Given the description of an element on the screen output the (x, y) to click on. 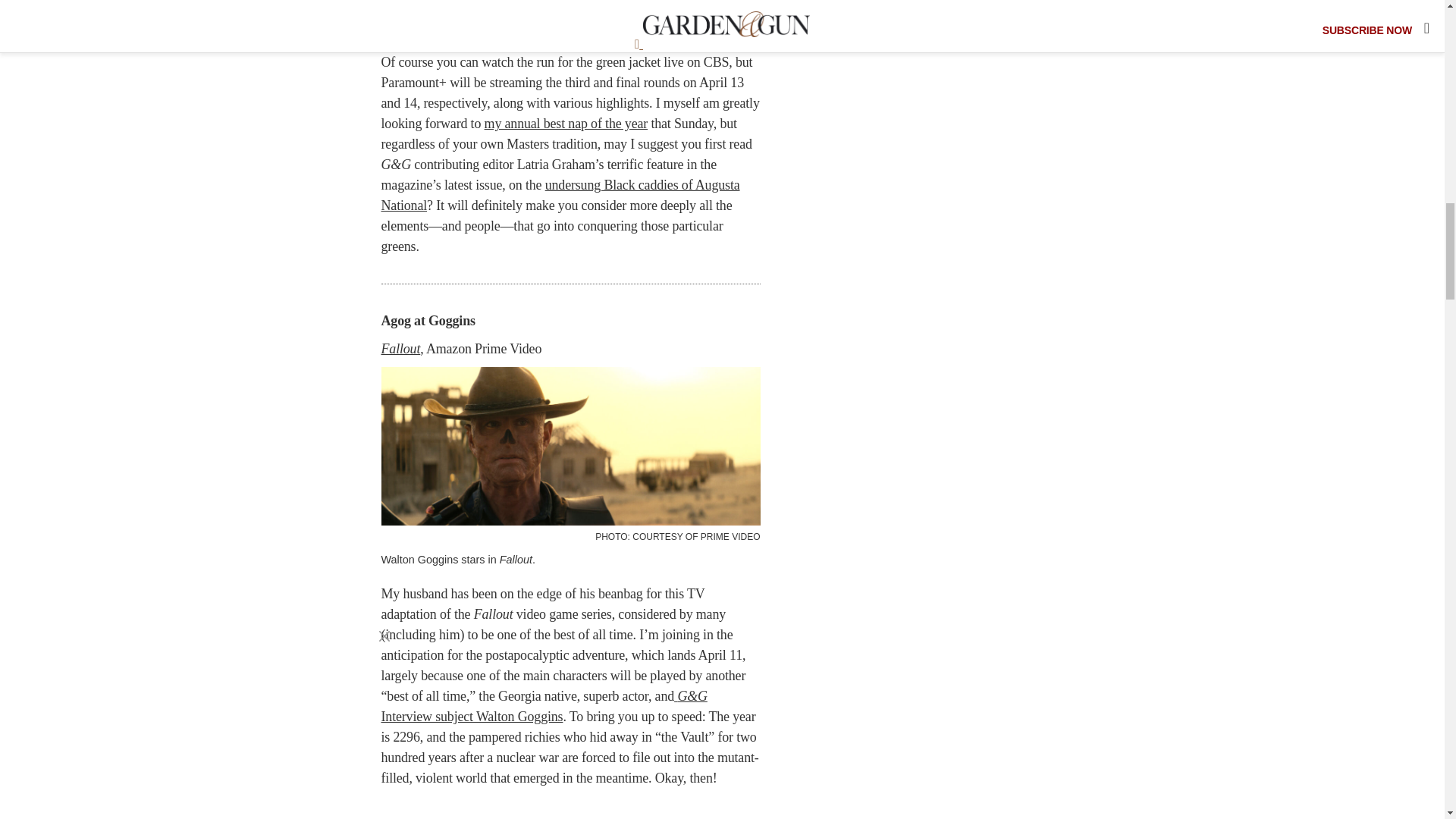
YouTube video player (570, 20)
YouTube video player (570, 807)
